Given the description of an element on the screen output the (x, y) to click on. 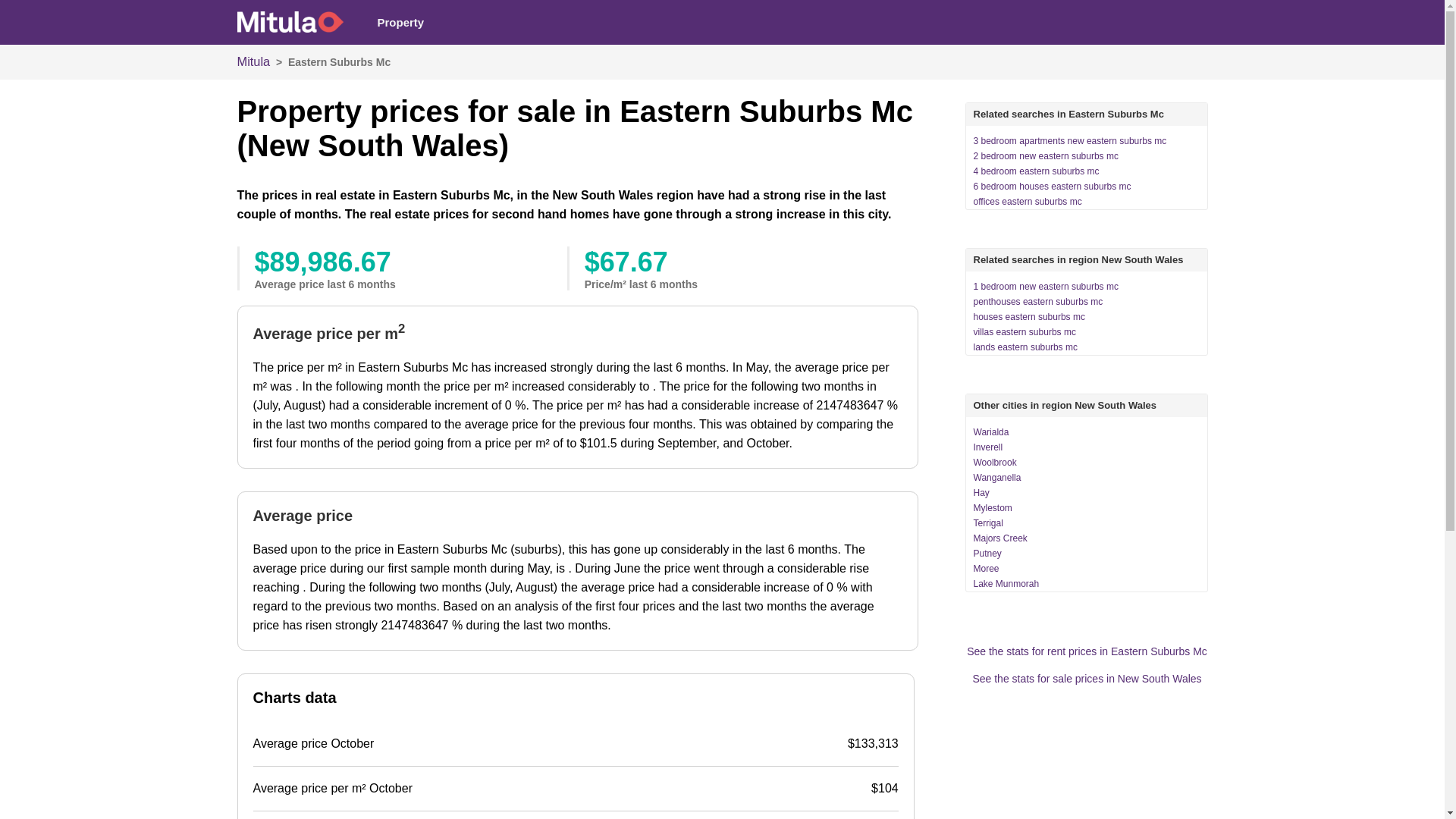
2 bedroom new eastern suburbs mc Element type: text (1045, 155)
See the stats for rent prices in Eastern Suburbs Mc Element type: text (1086, 651)
Mylestom Element type: text (992, 507)
Mitula Element type: text (252, 61)
See the stats for sale prices in New South Wales Element type: text (1086, 678)
villas eastern suburbs mc Element type: text (1024, 331)
3 bedroom apartments new eastern suburbs mc Element type: text (1070, 140)
houses eastern suburbs mc Element type: text (1029, 316)
6 bedroom houses eastern suburbs mc Element type: text (1052, 186)
Warialda Element type: text (991, 431)
Putney Element type: text (987, 553)
1 bedroom new eastern suburbs mc Element type: text (1045, 286)
penthouses eastern suburbs mc Element type: text (1038, 301)
Inverell Element type: text (988, 447)
Lake Munmorah Element type: text (1006, 583)
offices eastern suburbs mc Element type: text (1027, 201)
Wanganella Element type: text (997, 477)
4 bedroom eastern suburbs mc Element type: text (1036, 171)
Terrigal Element type: text (988, 522)
Woolbrook Element type: text (994, 462)
Hay Element type: text (981, 492)
Moree Element type: text (986, 568)
lands eastern suburbs mc Element type: text (1025, 347)
Majors Creek Element type: text (1000, 538)
Mitula Property Element type: hover (289, 21)
